Given the description of an element on the screen output the (x, y) to click on. 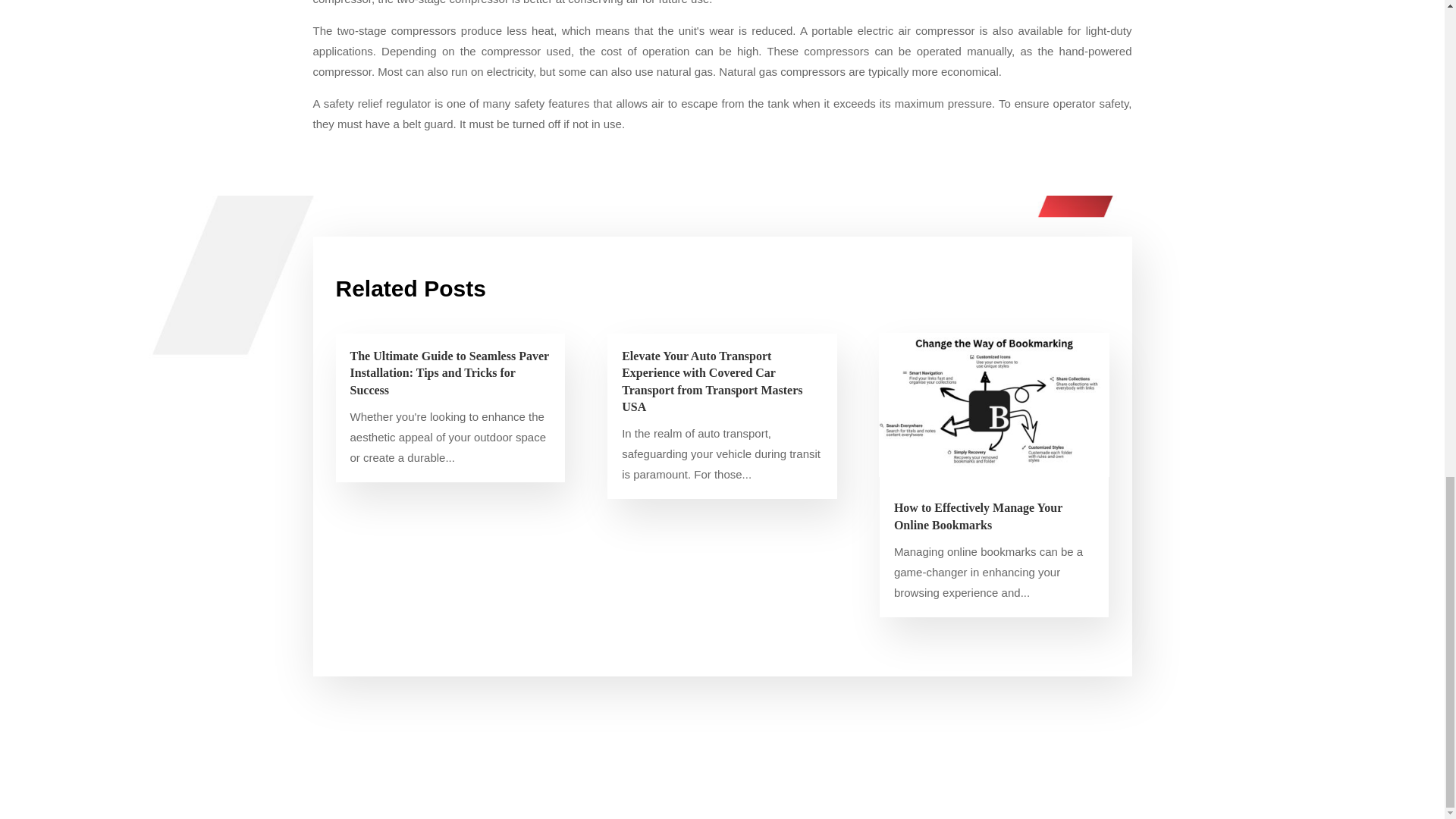
How to Effectively Manage Your Online Bookmarks (977, 515)
